Given the description of an element on the screen output the (x, y) to click on. 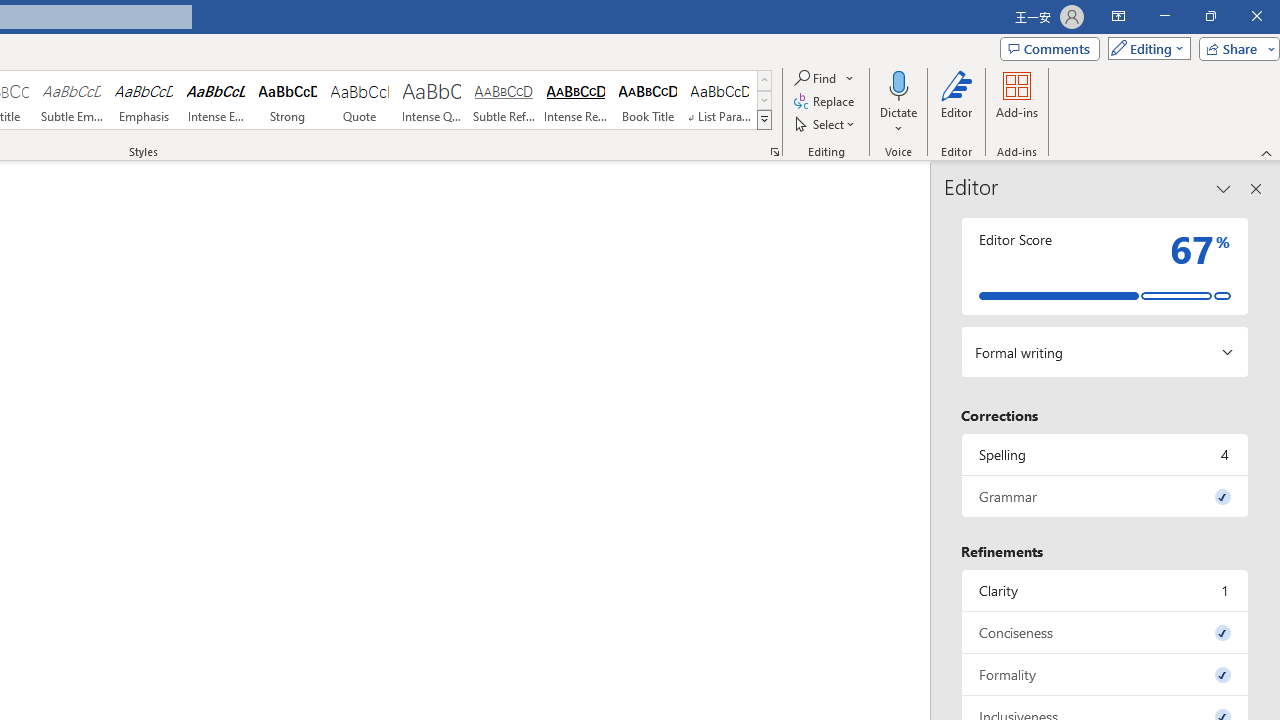
Quote (359, 100)
Intense Emphasis (216, 100)
Row Down (763, 100)
Editor Score 67% (1105, 266)
Conciseness, 0 issues. Press space or enter to review items. (1105, 632)
